Given the description of an element on the screen output the (x, y) to click on. 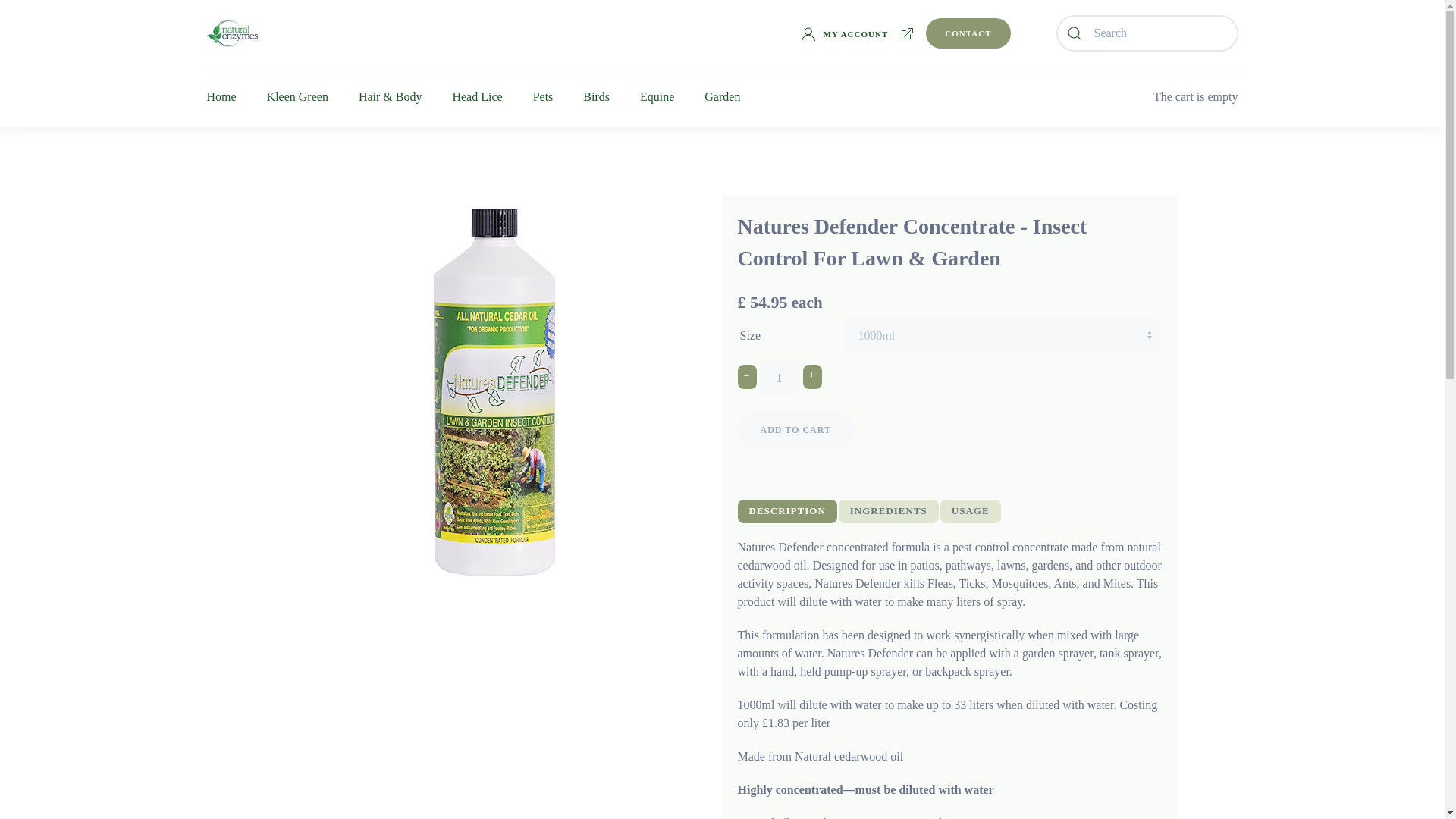
CONTACT (968, 33)
Kleen Green (297, 96)
1 (778, 377)
DESCRIPTION (785, 510)
MY ACCOUNT (844, 33)
ADD TO CART (794, 429)
USAGE (970, 510)
INGREDIENTS (888, 510)
